Given the description of an element on the screen output the (x, y) to click on. 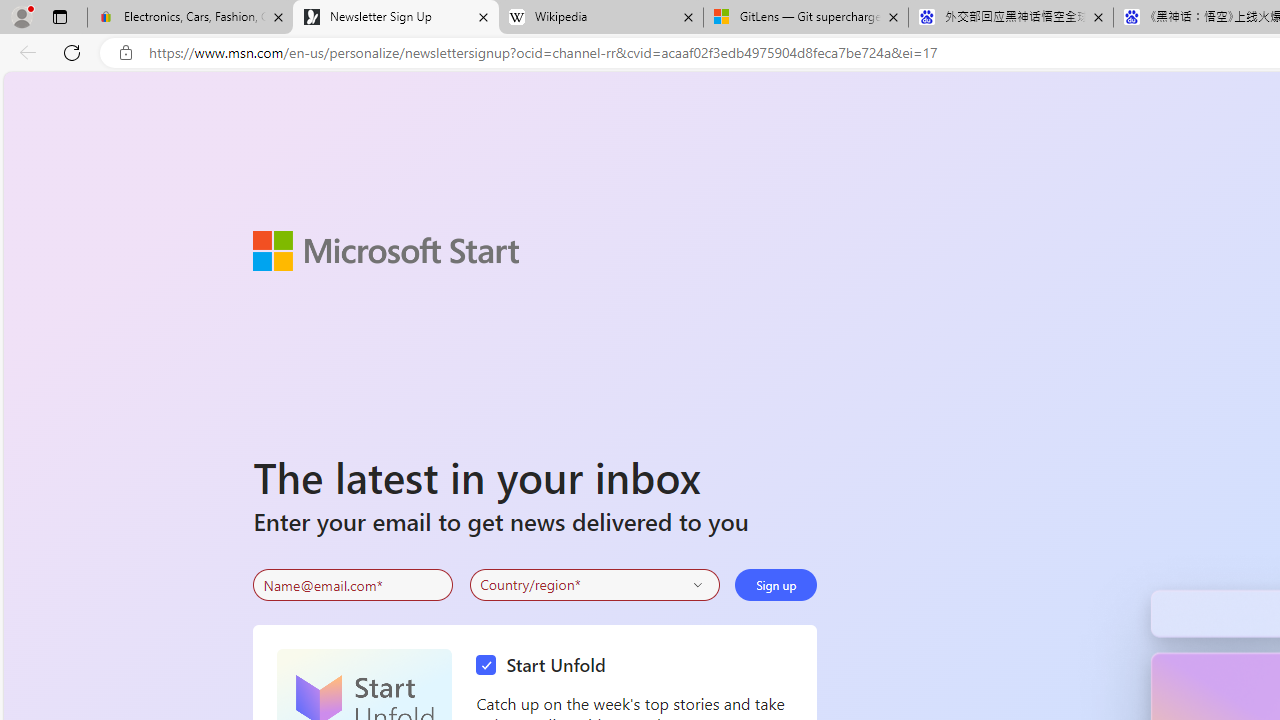
Enter your email (353, 585)
Select your country (594, 584)
Sign up (775, 584)
Wikipedia (600, 17)
Start Unfold (545, 665)
Newsletter Sign Up (395, 17)
